Given the description of an element on the screen output the (x, y) to click on. 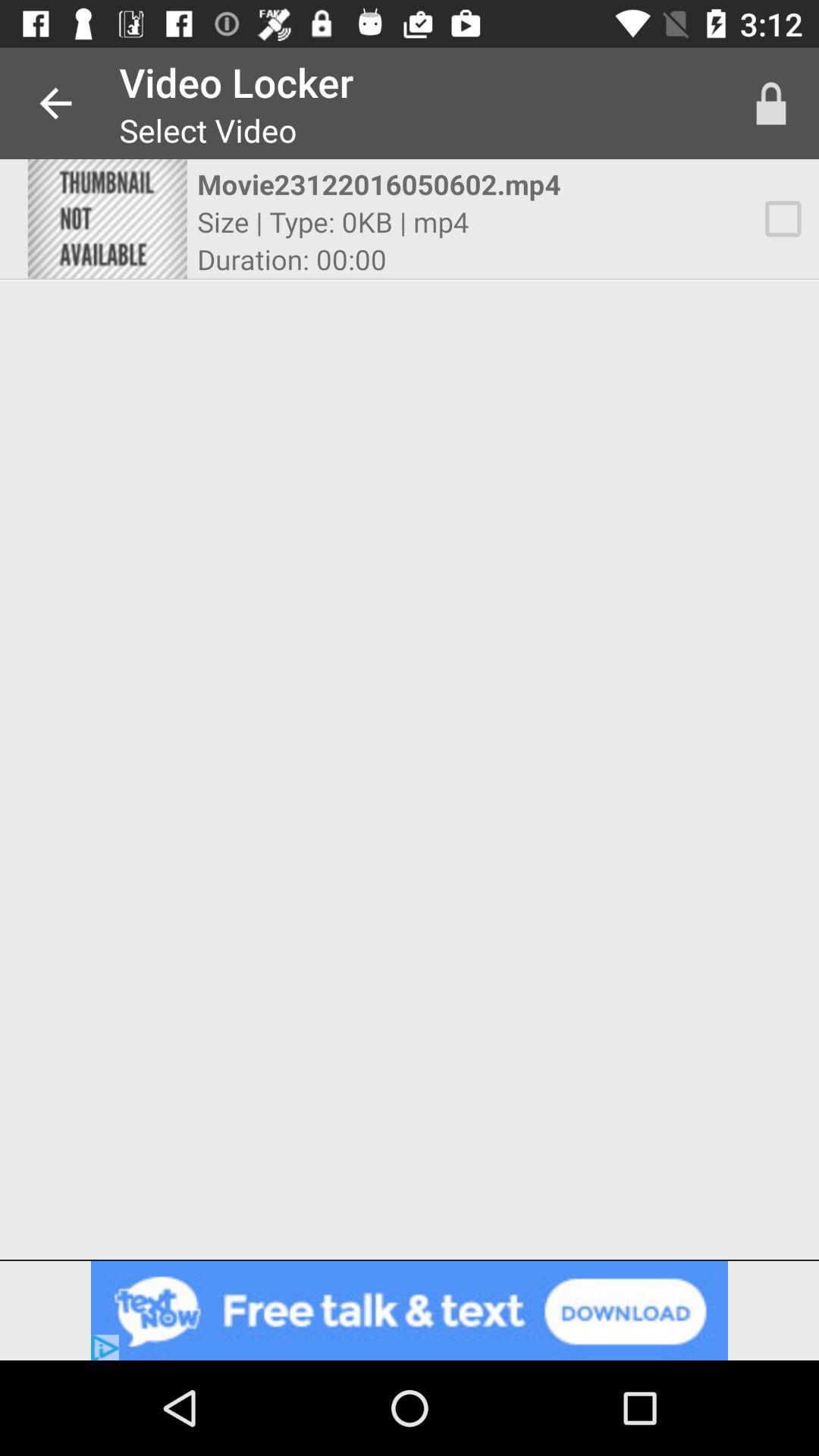
launch icon next to movie23122016050602.mp4 item (771, 103)
